Given the description of an element on the screen output the (x, y) to click on. 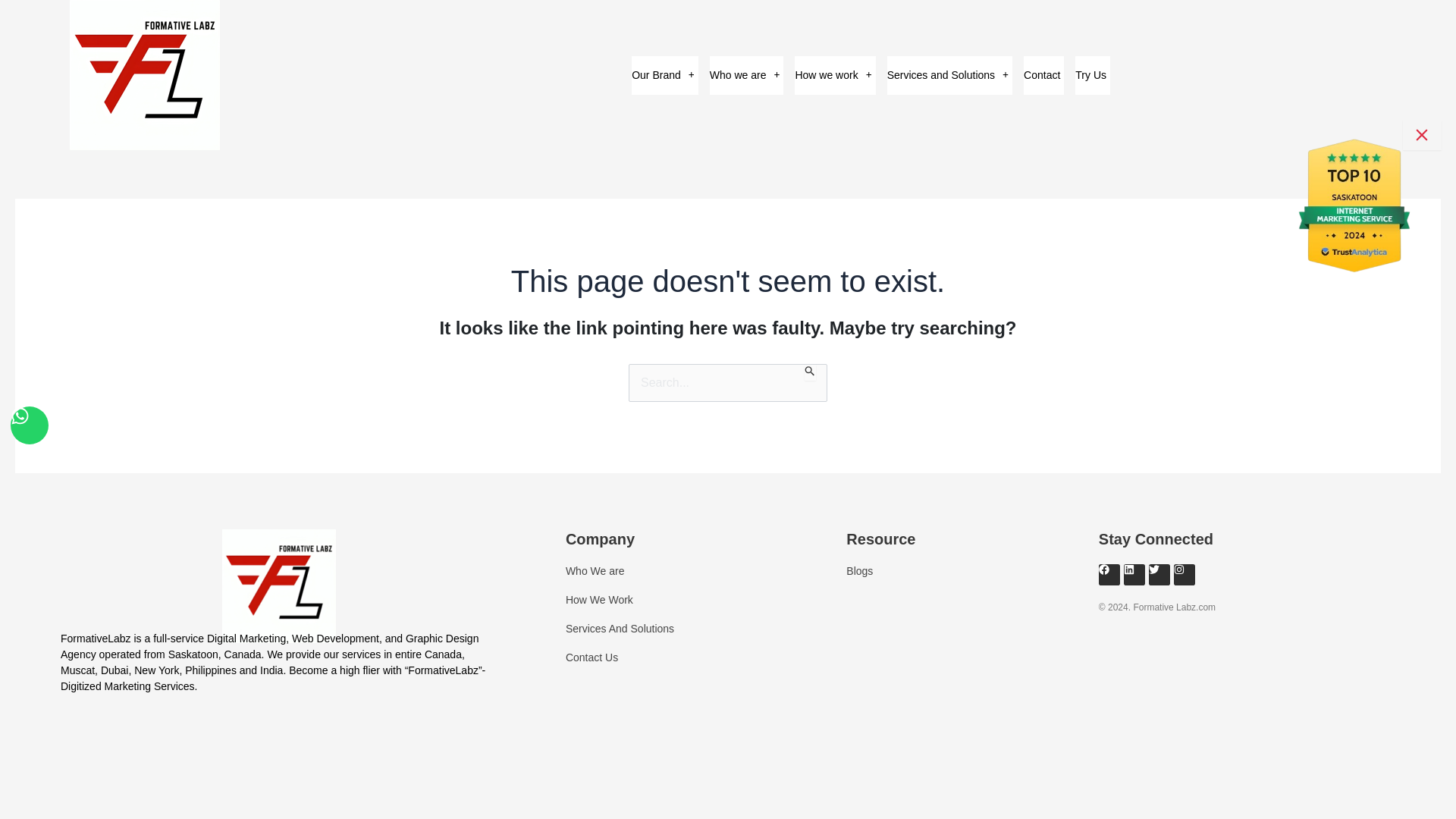
Who we are (747, 75)
Our Brand (664, 75)
Services and Solutions (948, 75)
Try Us (1092, 75)
Contact (1043, 75)
How we work (834, 75)
